Given the description of an element on the screen output the (x, y) to click on. 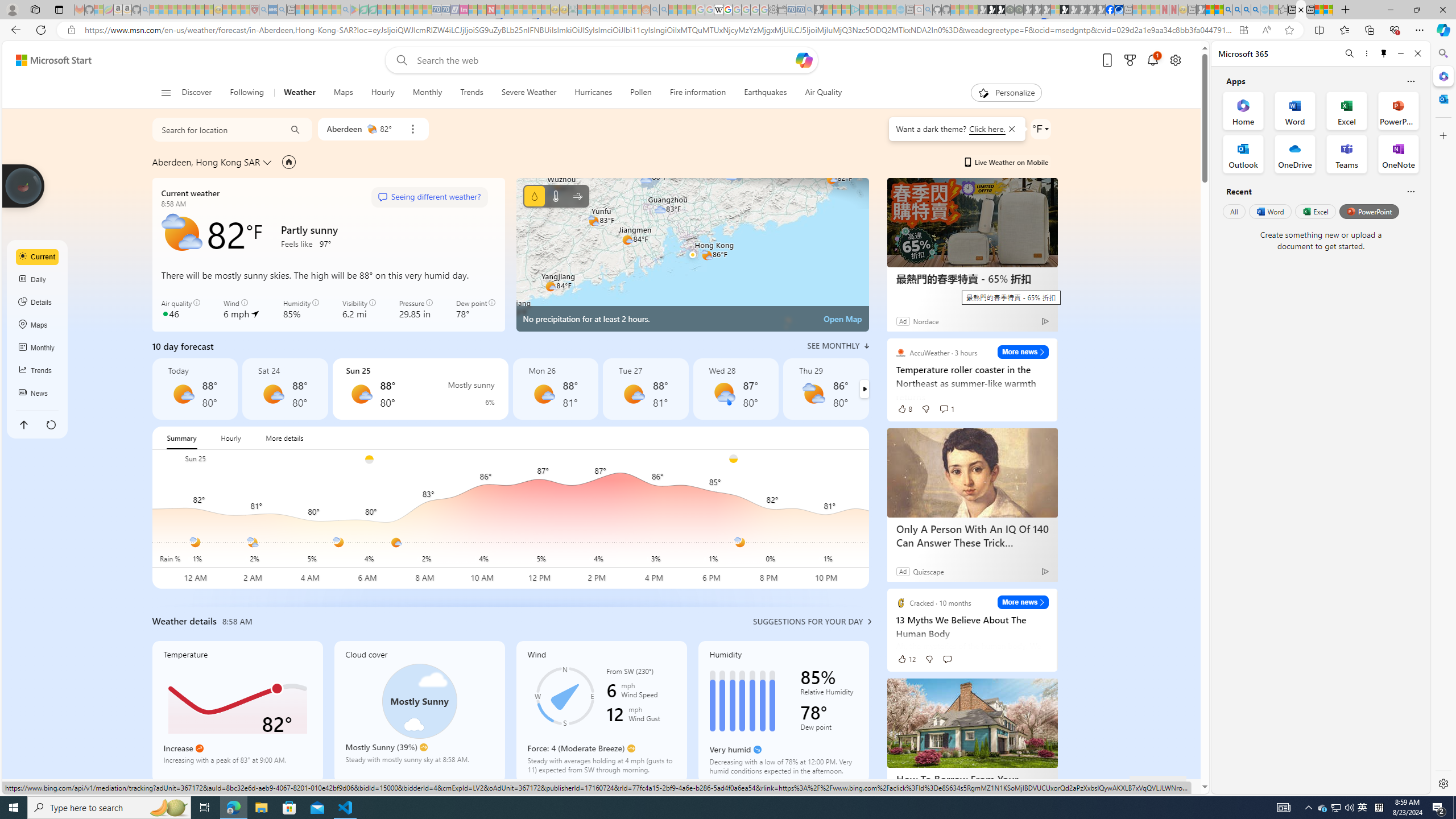
PowerPoint (1369, 210)
Fire information (698, 92)
google - Search - Sleeping (345, 9)
Dew point (828, 728)
Home Office App (1243, 110)
Data Providers (1066, 785)
Earthquakes (765, 92)
